Given the description of an element on the screen output the (x, y) to click on. 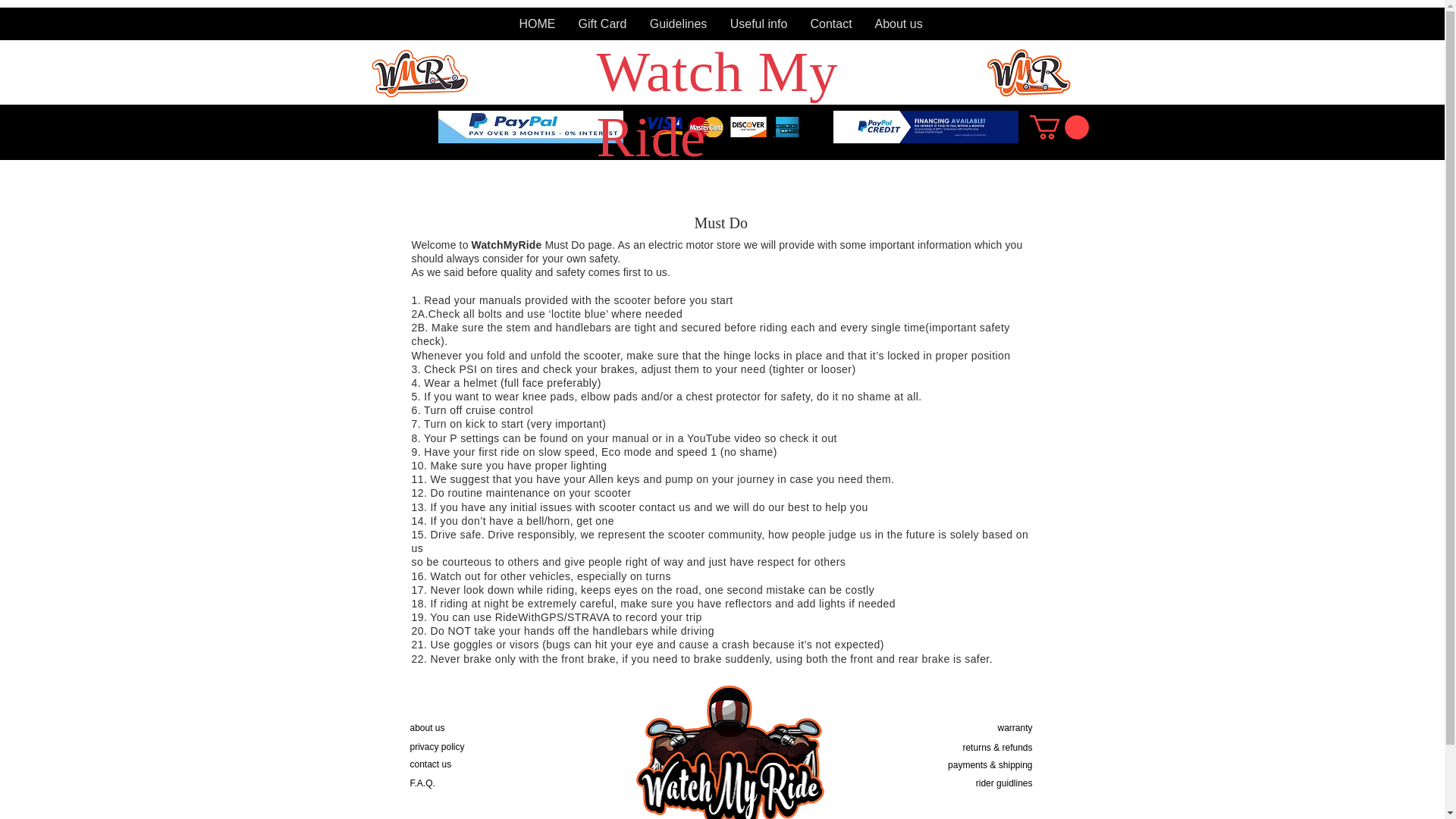
HOME (537, 24)
contact us (430, 764)
privacy policy (436, 747)
Useful info (759, 24)
Contact (831, 24)
Guidelines (679, 24)
Must Do (721, 222)
Gift Card (603, 24)
About us (898, 24)
Watch My Ride (716, 104)
about us (426, 727)
